Given the description of an element on the screen output the (x, y) to click on. 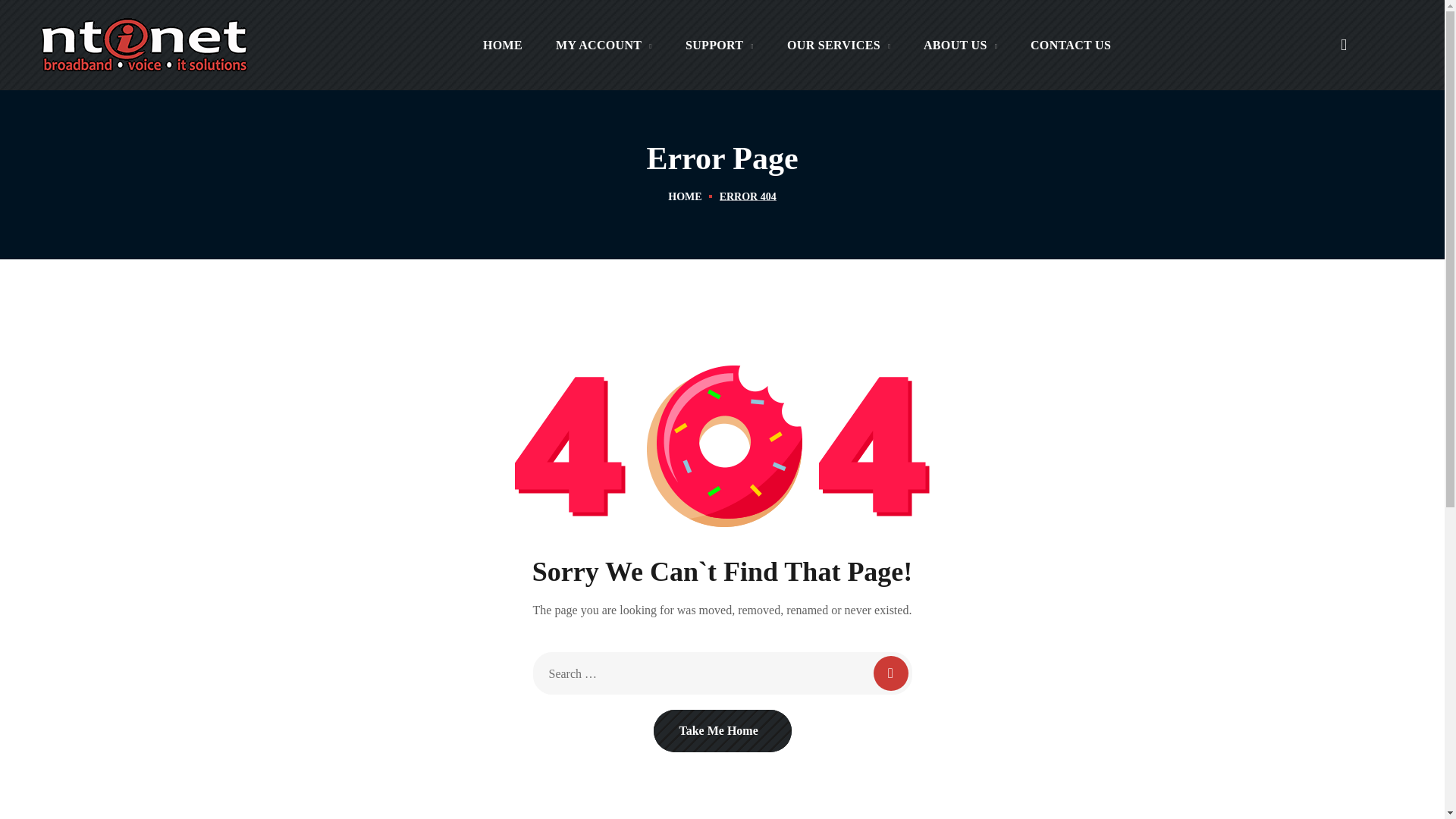
ABOUT US (960, 44)
CONTACT US (1069, 44)
MY ACCOUNT (603, 44)
SUPPORT (719, 44)
Search (1289, 130)
OUR SERVICES (838, 44)
HOME (501, 44)
